Given the description of an element on the screen output the (x, y) to click on. 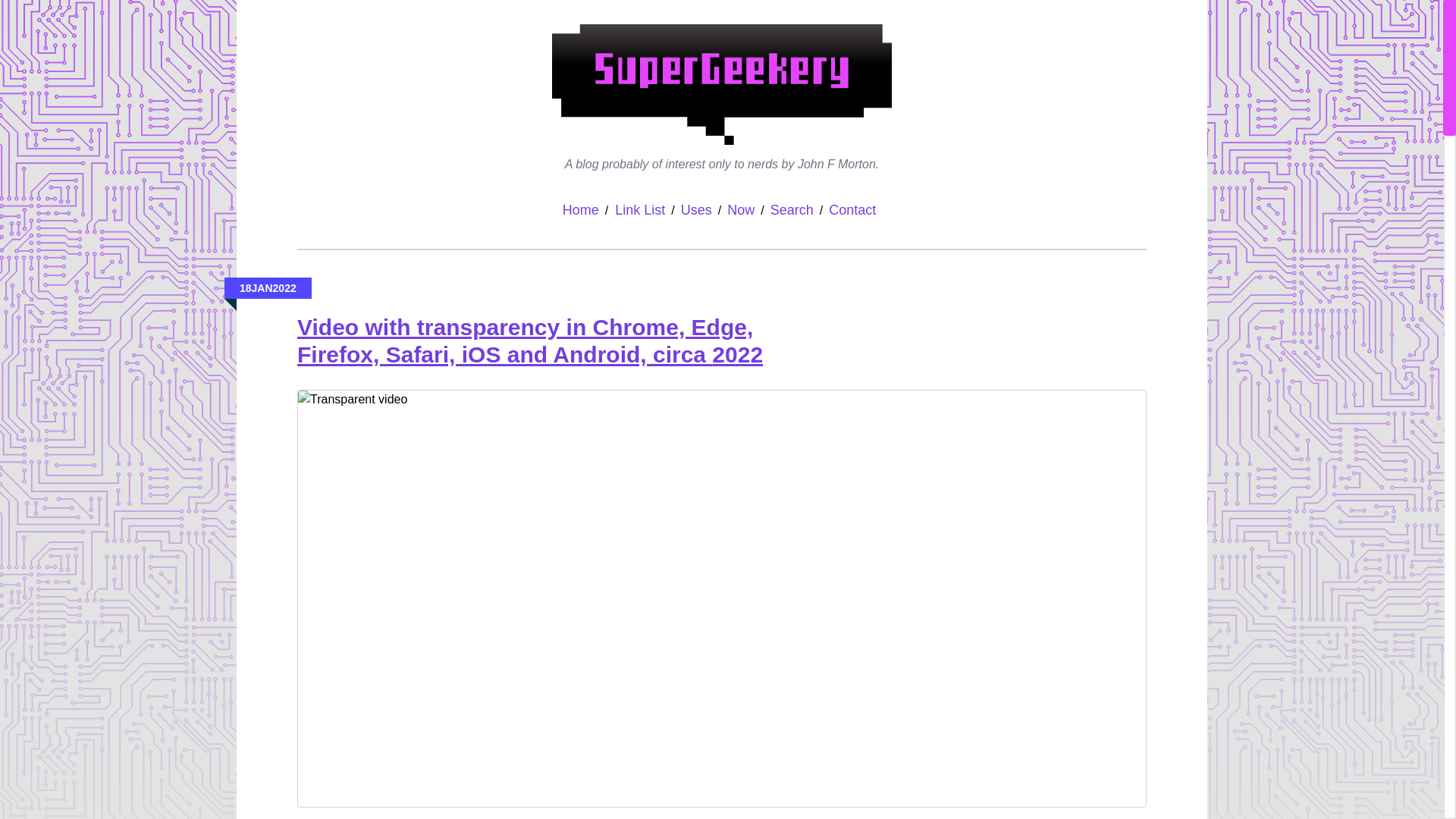
Link List (639, 209)
Contact (852, 209)
Home (580, 209)
SuperGeekery (721, 84)
Search (791, 209)
Now (740, 209)
Uses (696, 209)
